Given the description of an element on the screen output the (x, y) to click on. 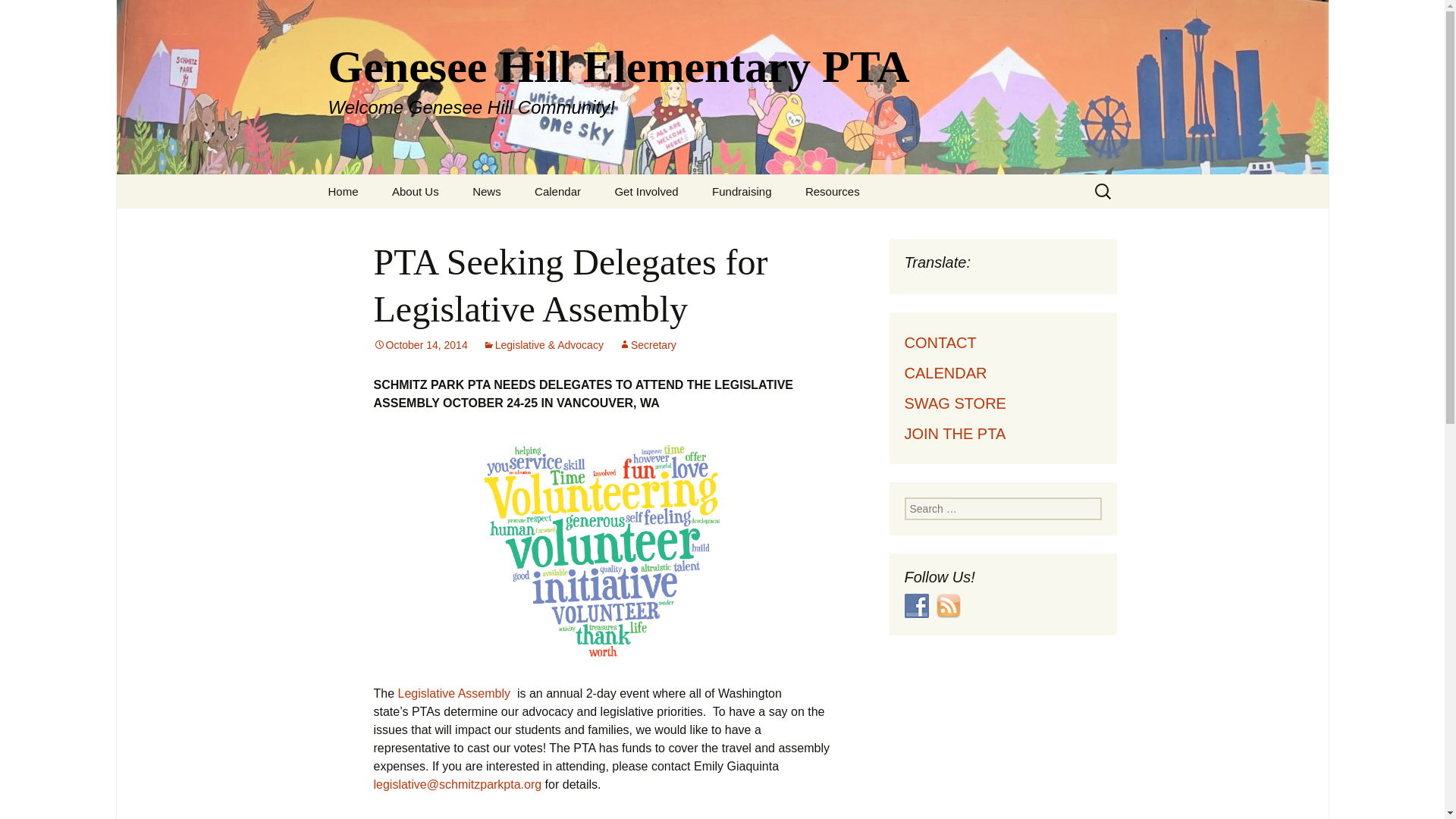
Home (342, 191)
Calendar (557, 191)
Follow Us on Facebook (916, 605)
CALENDAR (945, 372)
View all posts by Secretary (647, 345)
Search (18, 15)
Permalink to PTA Seeking Delegates for Legislative Assembly (419, 345)
October 14, 2014 (419, 345)
Donate (772, 225)
About Us (415, 191)
Genesee Hill PTA Website (342, 191)
Enrichment Program (866, 225)
GHE PTA RSS Feed (947, 605)
